Given the description of an element on the screen output the (x, y) to click on. 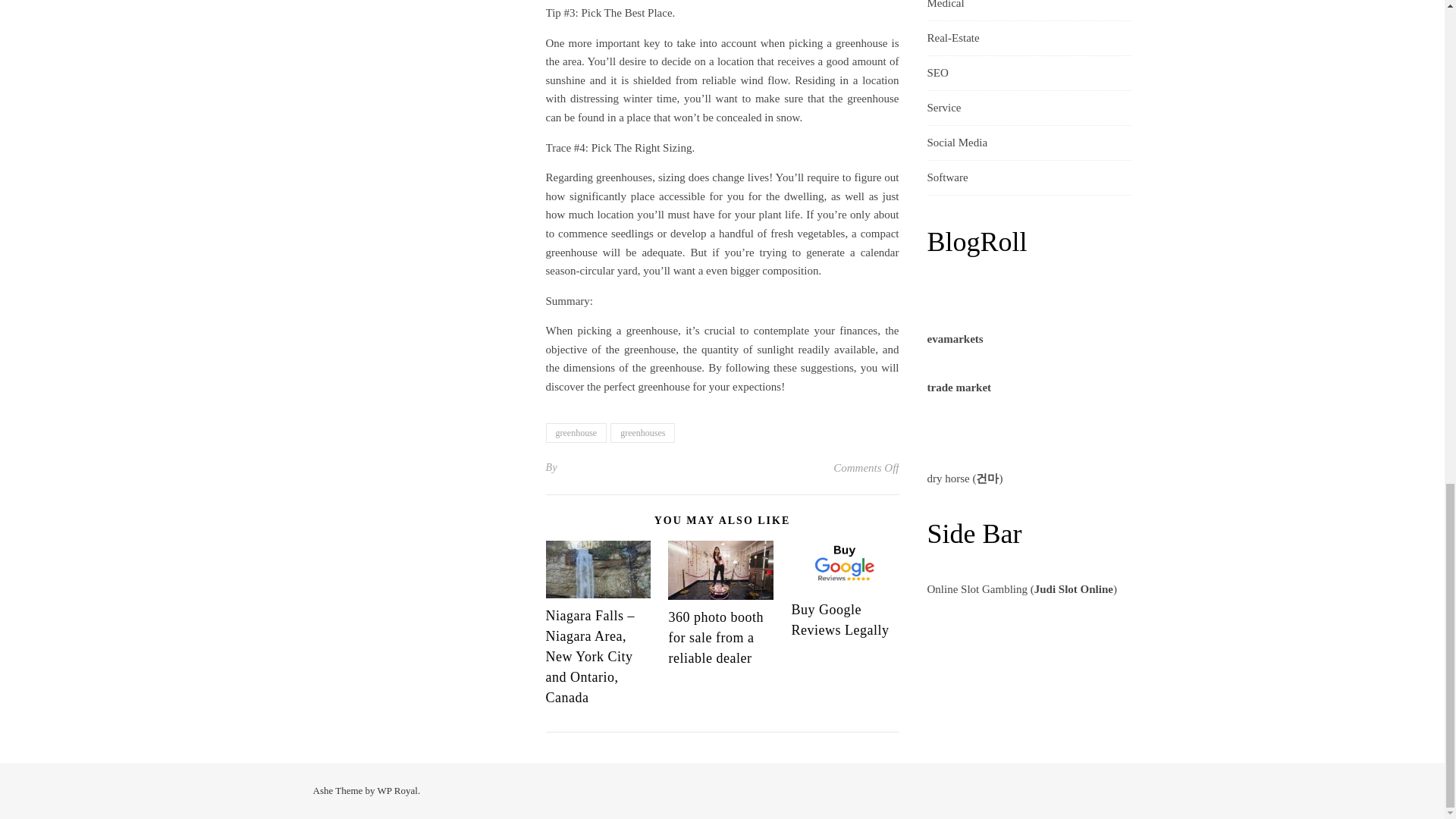
Real-Estate (952, 38)
Medical (944, 10)
Social Media (956, 142)
evamarkets (954, 338)
Software (947, 177)
greenhouses (642, 433)
Buy Google Reviews Legally (839, 619)
Service (943, 107)
greenhouse (576, 433)
360 photo booth for sale from a reliable dealer (715, 637)
